Given the description of an element on the screen output the (x, y) to click on. 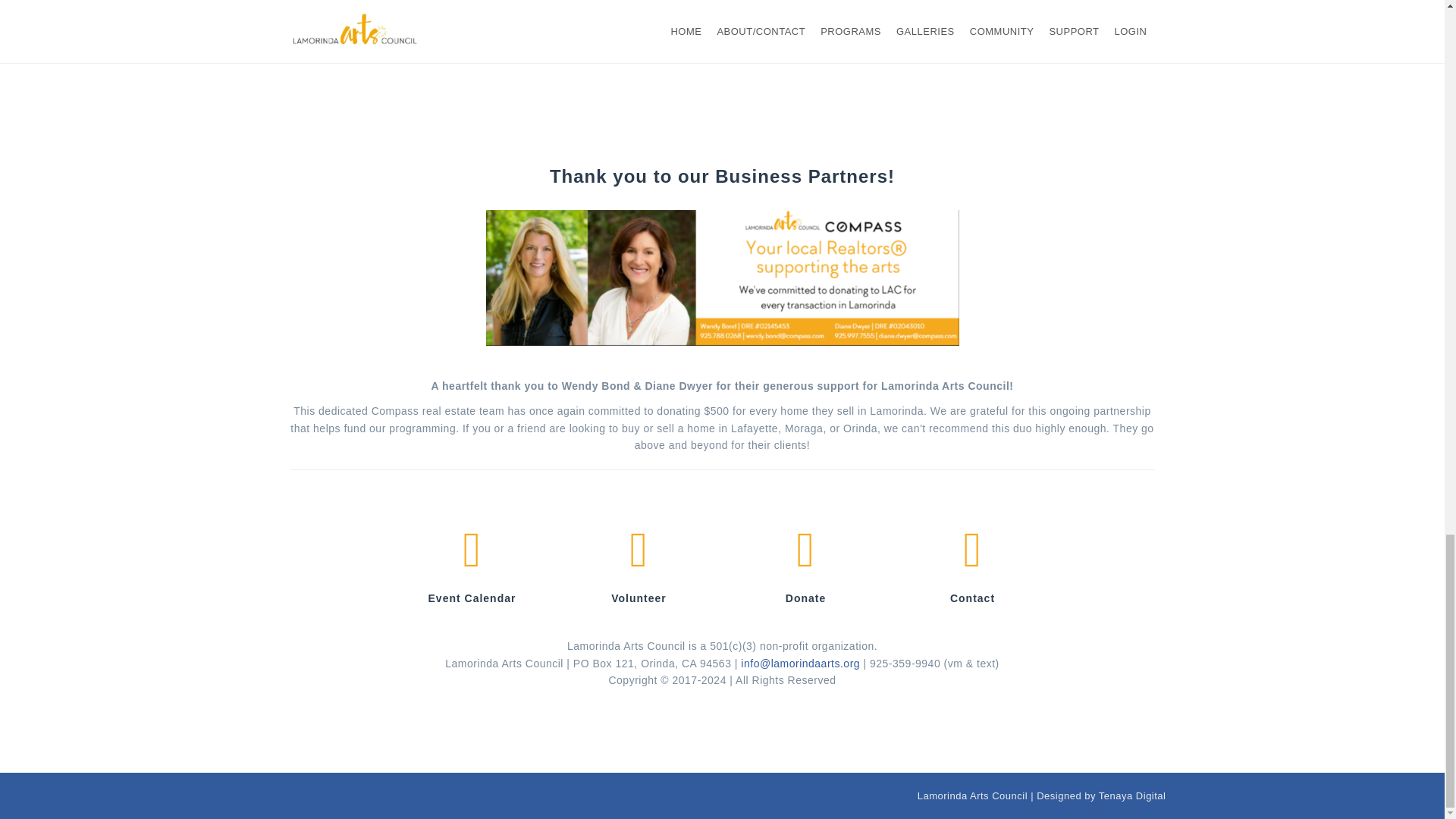
Event Calendar (471, 549)
Volunteer (638, 549)
